Given the description of an element on the screen output the (x, y) to click on. 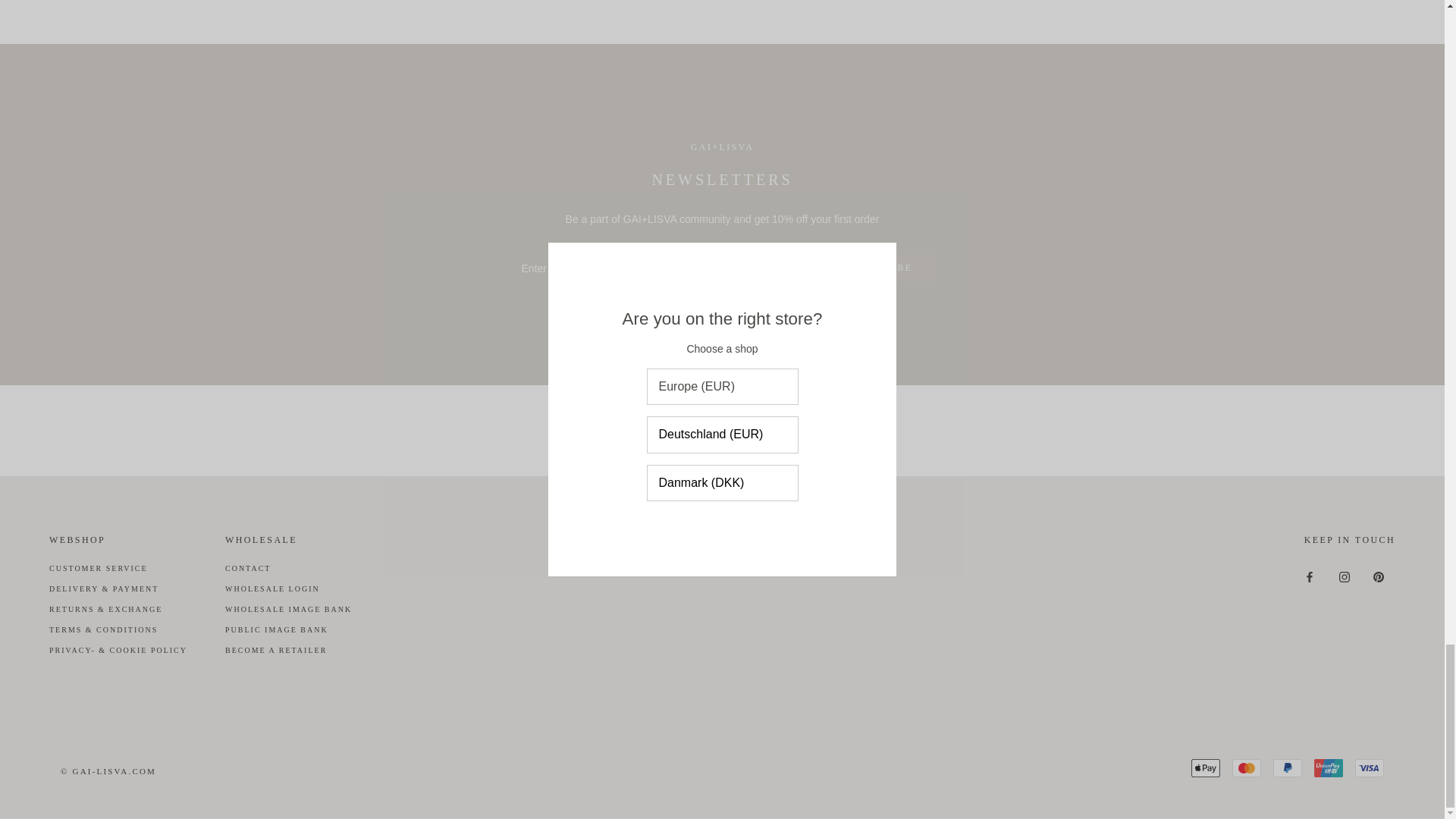
Union Pay (1328, 768)
Apple Pay (1205, 768)
PayPal (1286, 768)
Mastercard (1245, 768)
Visa (1369, 768)
